Given the description of an element on the screen output the (x, y) to click on. 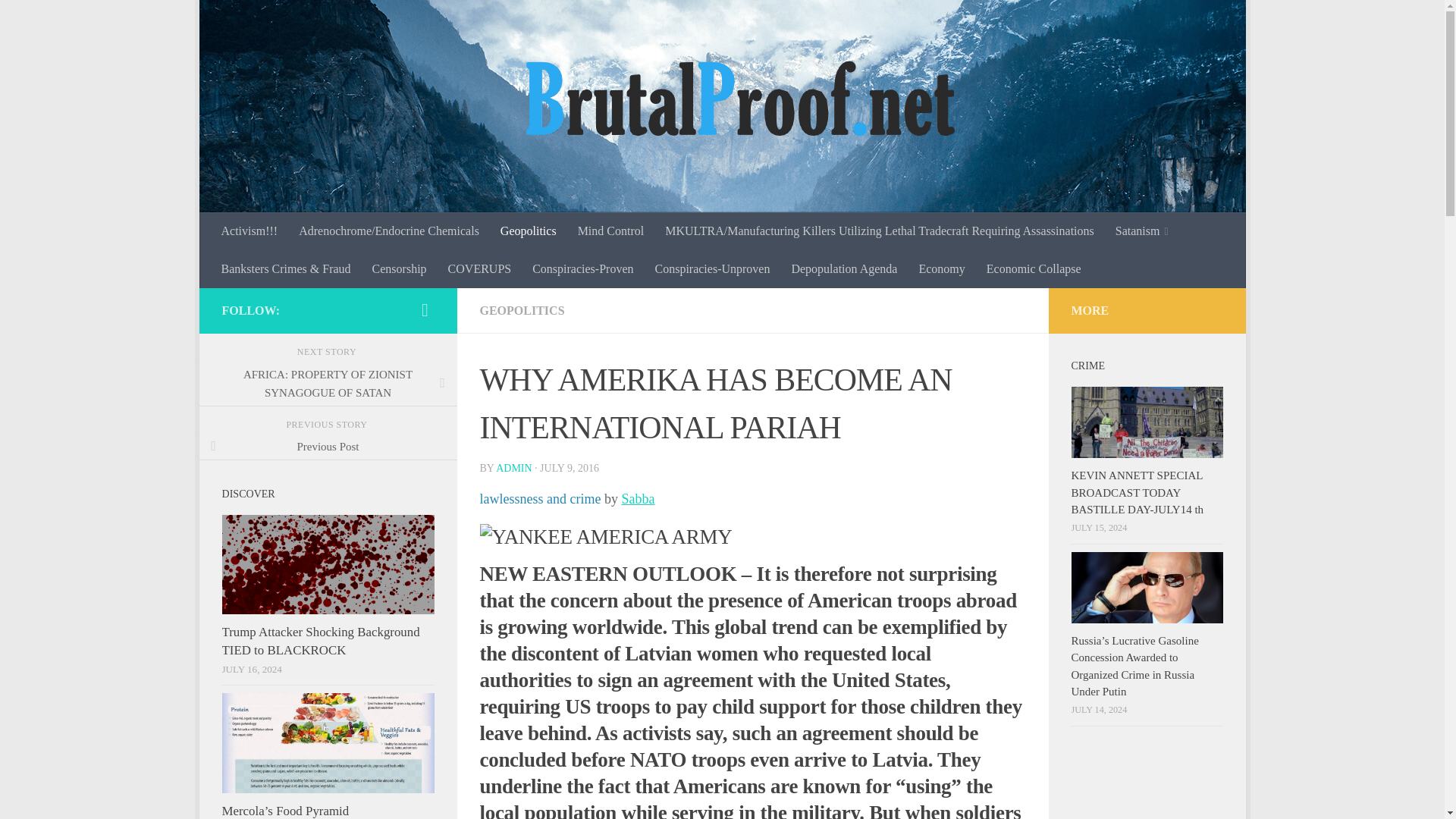
Conspiracies-Unproven (711, 269)
Get the book on Amazon (423, 310)
Censorship (399, 269)
Posts by Admin (513, 468)
Satanism (1142, 231)
Skip to content (258, 20)
Geopolitics (528, 231)
COVERUPS (480, 269)
Conspiracies-Proven (582, 269)
Activism!!! (249, 231)
Mind Control (611, 231)
